Given the description of an element on the screen output the (x, y) to click on. 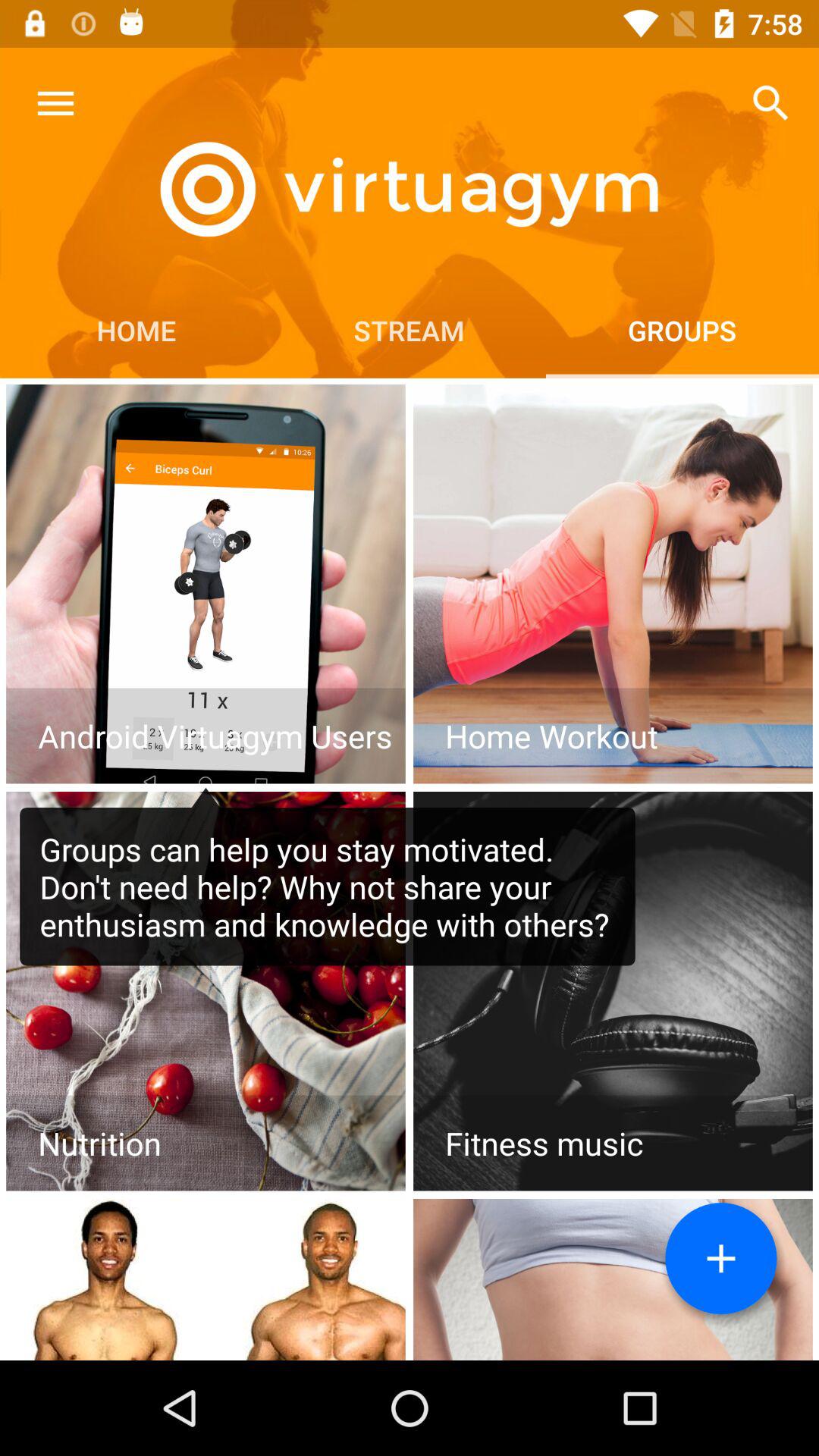
add group (721, 1258)
